Given the description of an element on the screen output the (x, y) to click on. 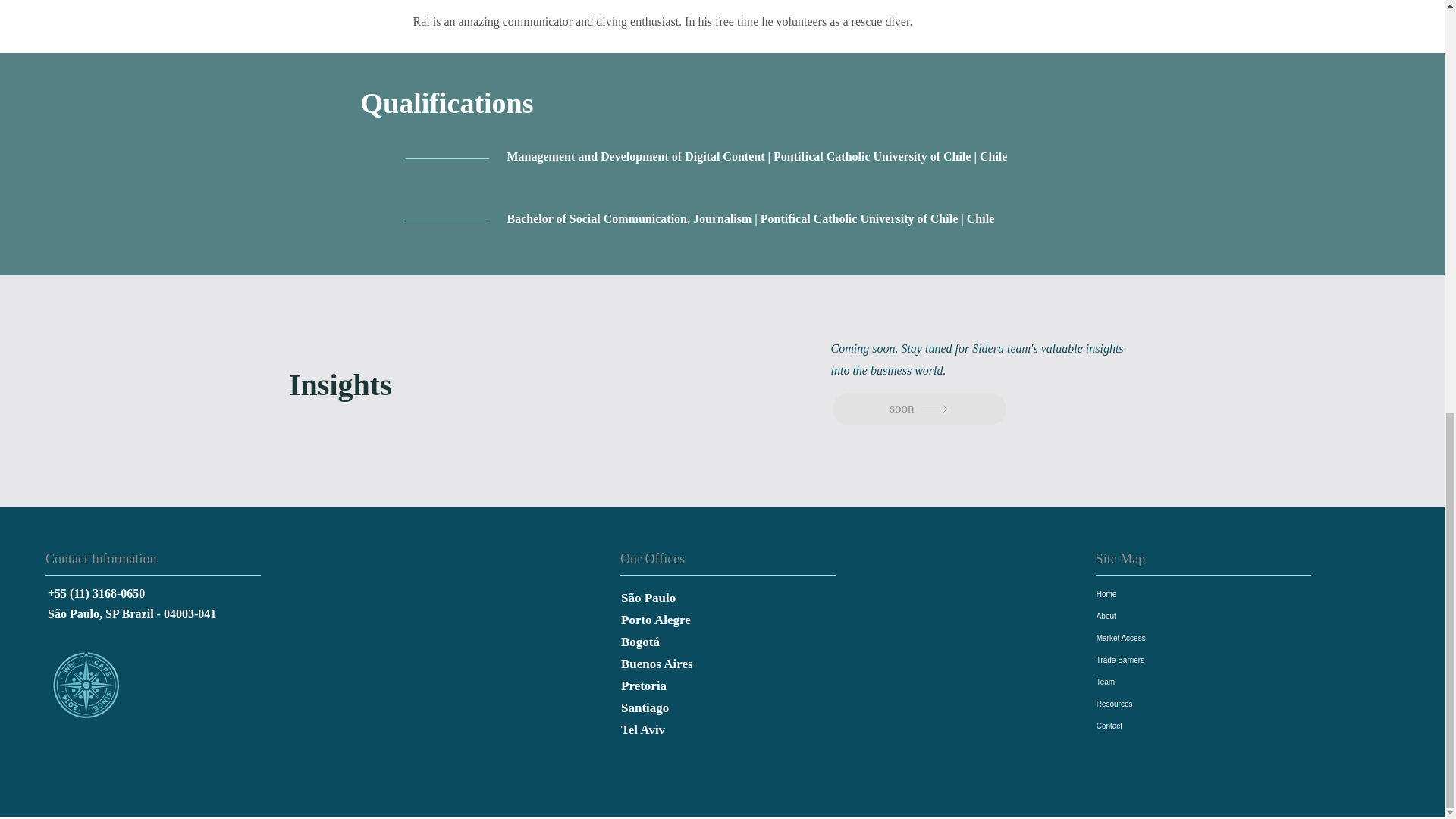
Site Map (1147, 559)
Tel Aviv (704, 730)
Our Offices (671, 559)
Porto Alegre (704, 619)
Santiago (704, 708)
Home (1171, 594)
Team (1171, 681)
Contact Information (120, 559)
soon (919, 409)
Pretoria (704, 686)
Trade Barriers (1171, 659)
About (1171, 616)
Buenos Aires (704, 664)
Market Access (1171, 638)
